Given the description of an element on the screen output the (x, y) to click on. 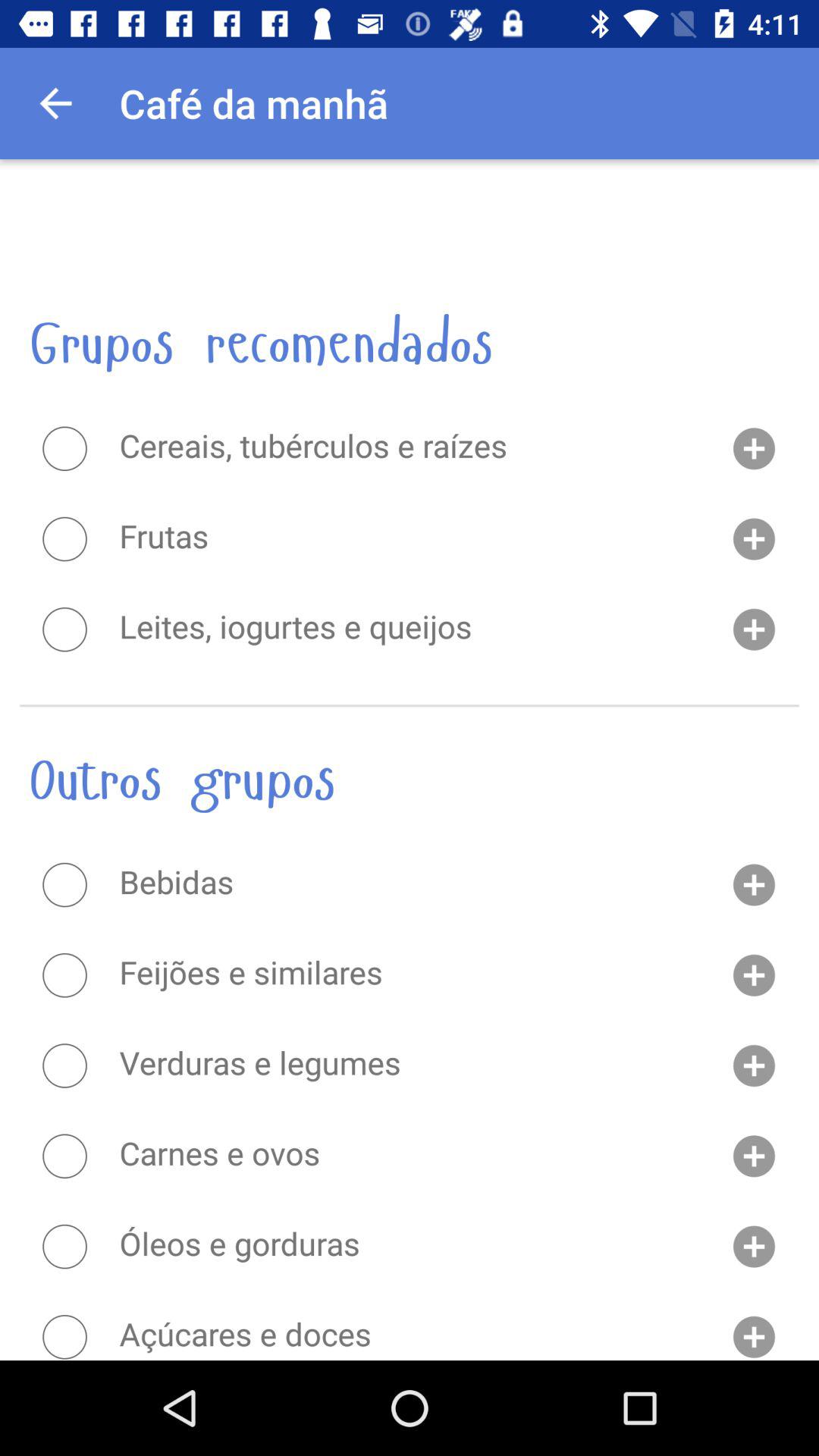
select this item (64, 975)
